Given the description of an element on the screen output the (x, y) to click on. 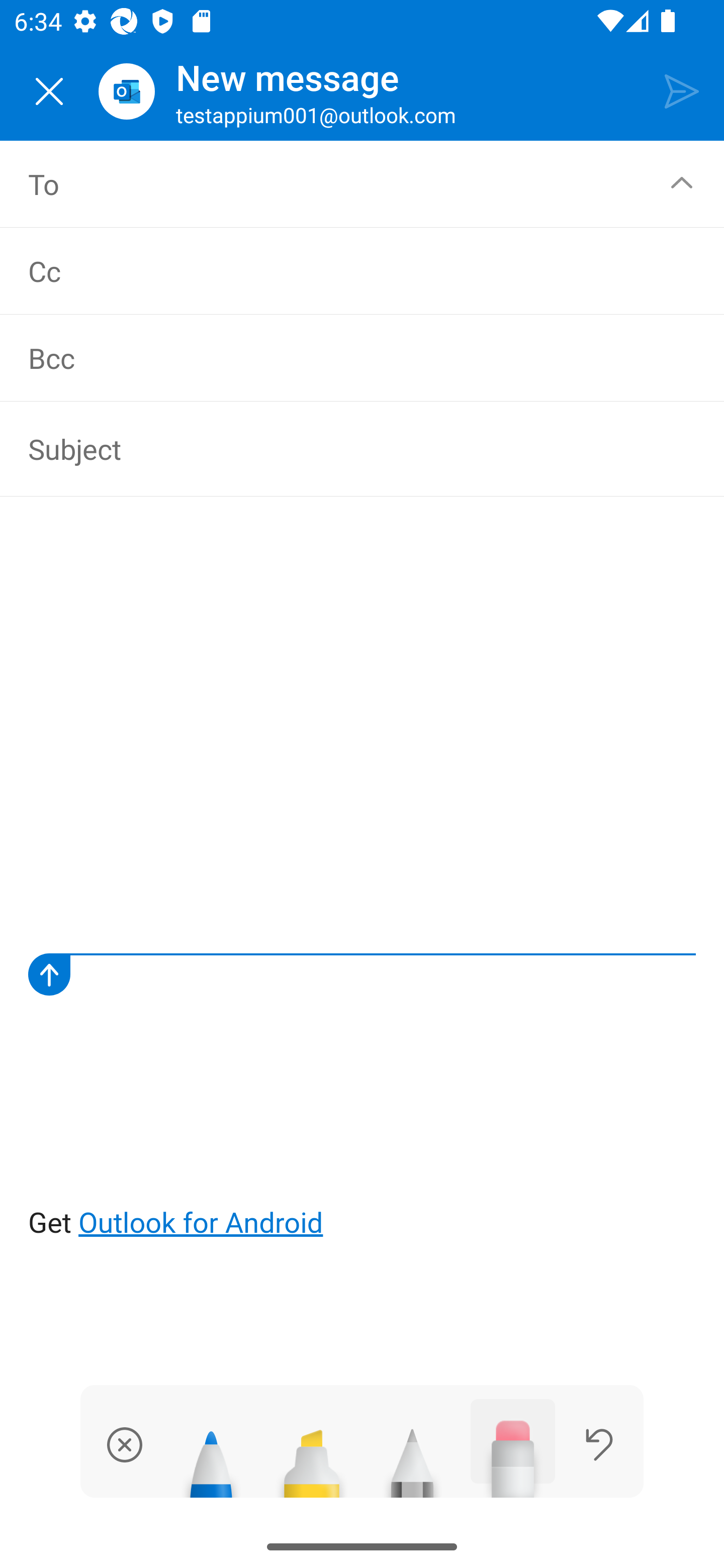
Close (49, 91)
Send (681, 90)
Subject (347, 448)


Get Outlook for Android (363, 881)
Canvas Lower Bound (362, 974)
Eraser tool (512, 1447)
dismiss ink and save drawing (124, 1444)
Undo last stroke (598, 1444)
Pen tool (210, 1455)
Highlighter tool (311, 1455)
Pencil tool (411, 1455)
